Given the description of an element on the screen output the (x, y) to click on. 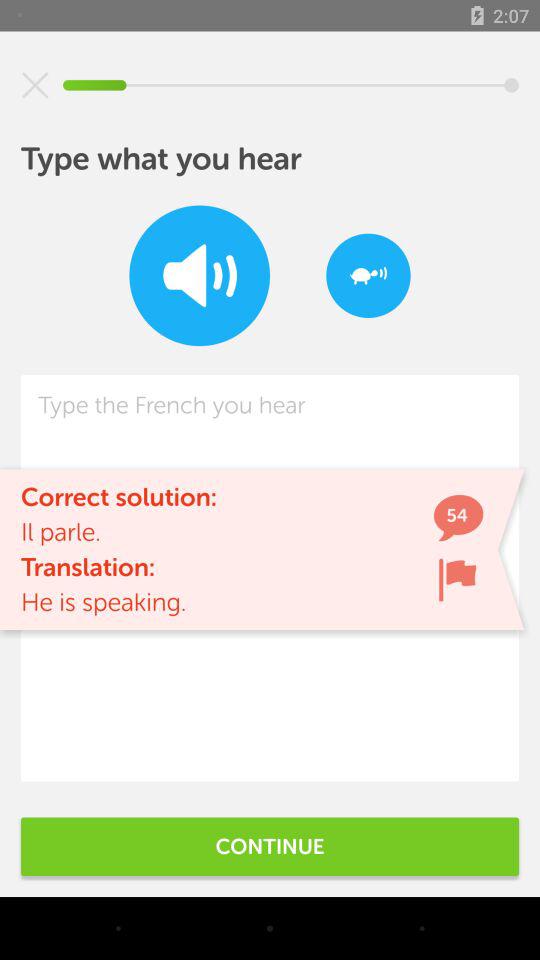
choose the item at the top right corner (368, 275)
